Given the description of an element on the screen output the (x, y) to click on. 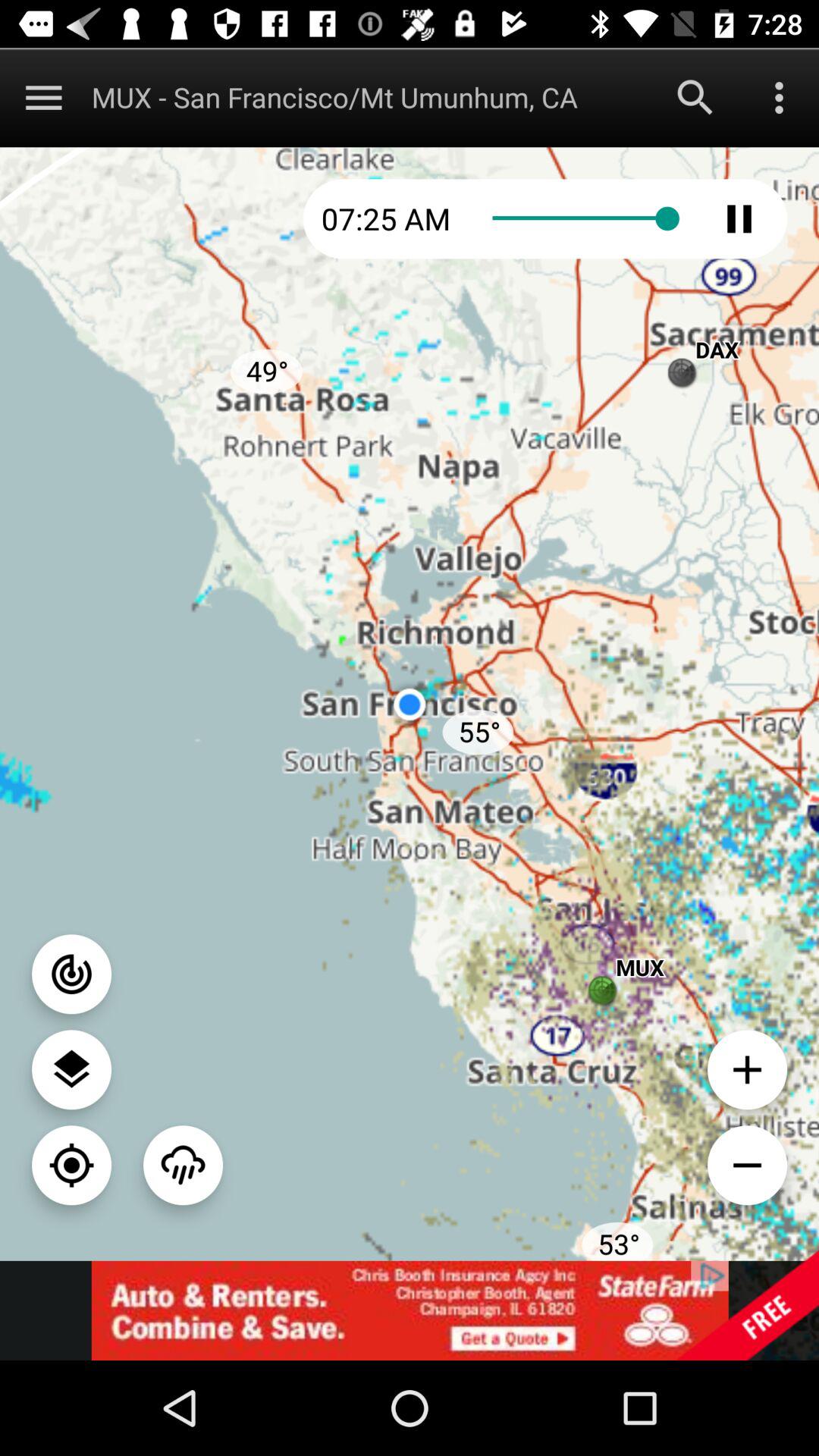
pause/play button (739, 218)
